Given the description of an element on the screen output the (x, y) to click on. 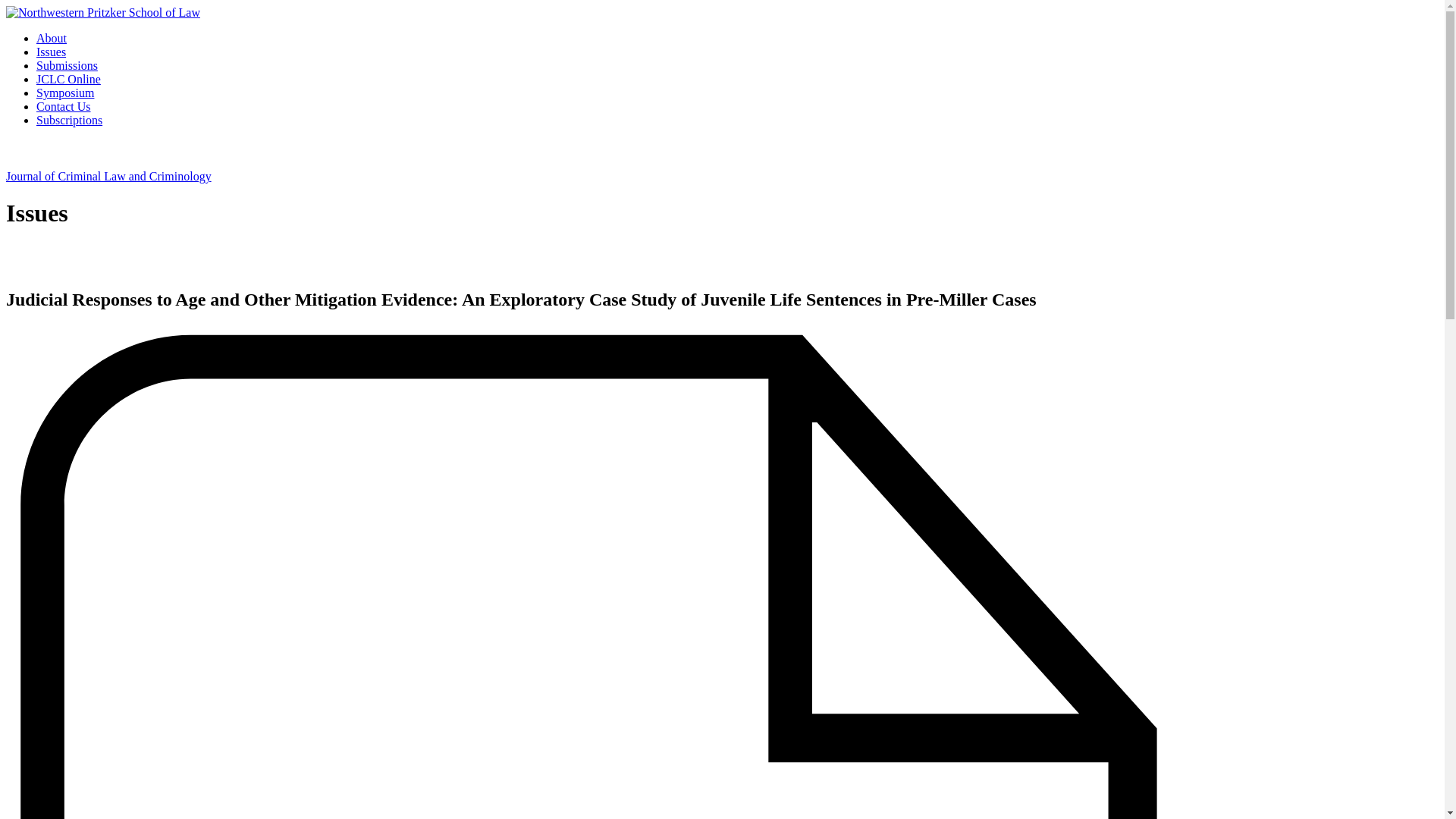
Symposium (65, 92)
Submissions (66, 65)
Contact Us (63, 106)
Issues (50, 51)
JCLC Online (68, 78)
Subscriptions (68, 119)
About (51, 38)
Journal of Criminal Law and Criminology (108, 175)
Journal of Criminal Law and Criminology (108, 175)
Northwestern Pritzker School of Law (102, 11)
